Given the description of an element on the screen output the (x, y) to click on. 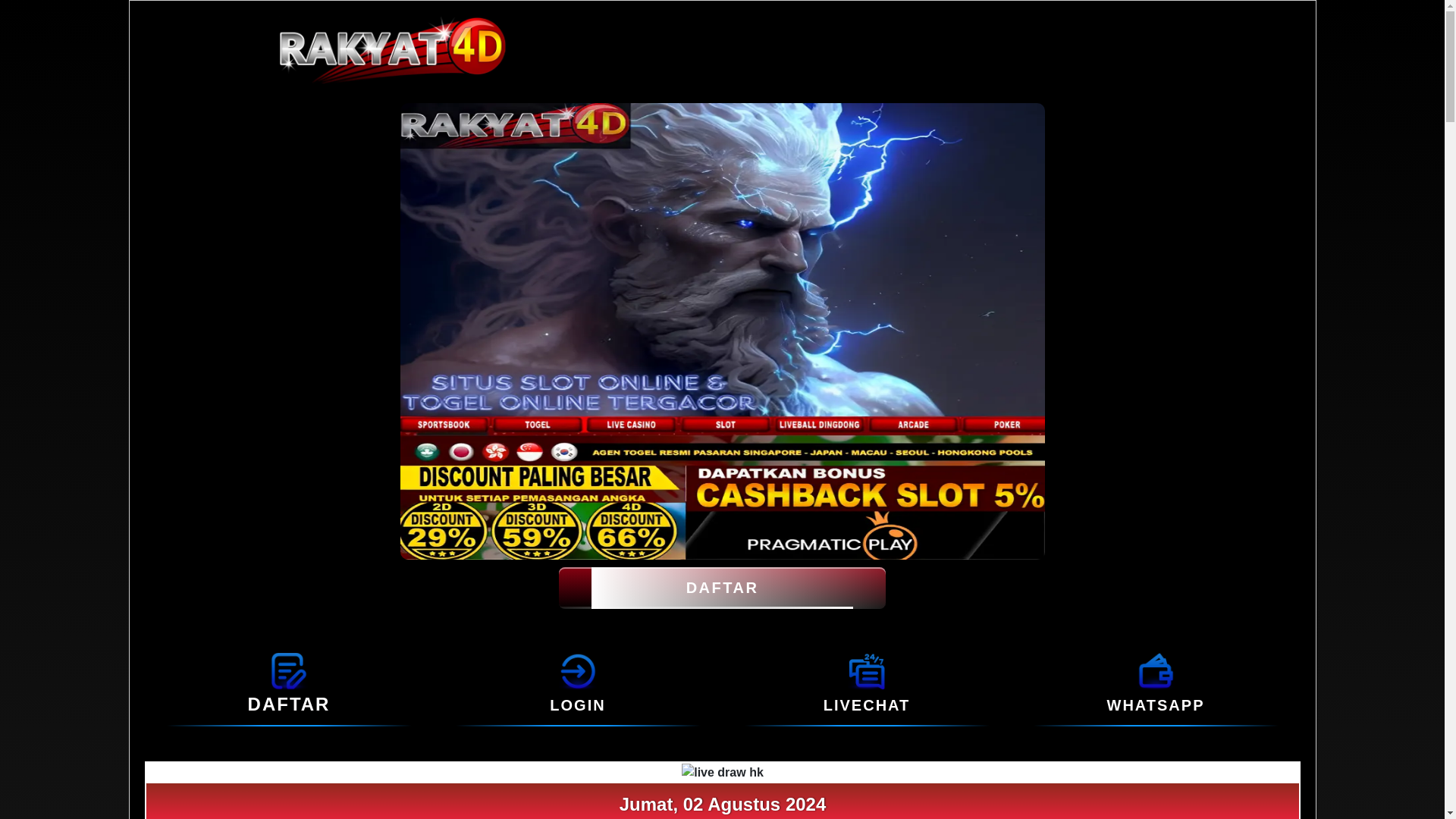
DAFTAR (288, 670)
WHATSAPP (1155, 670)
DAFTAR (722, 588)
WHATSAPP (1155, 704)
LIVECHAT (867, 704)
LIVECHAT (866, 670)
LOGIN (577, 704)
LOGIN (577, 670)
